Given the description of an element on the screen output the (x, y) to click on. 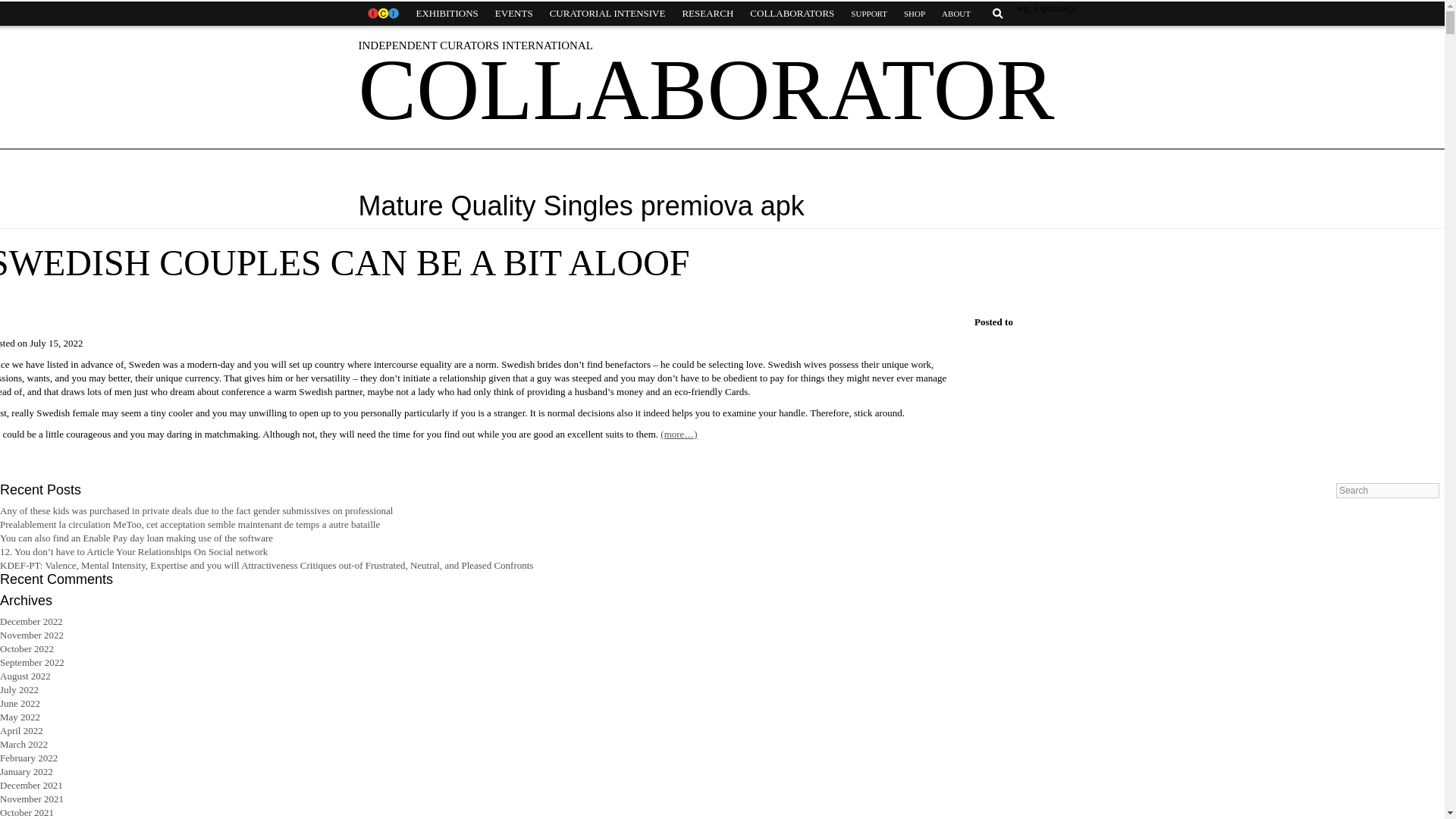
EXHIBITIONS (446, 13)
RESEARCH (706, 13)
HOME (382, 13)
CURATORIAL INTENSIVE (607, 13)
COLLABORATORS (792, 13)
EVENTS (513, 13)
